Given the description of an element on the screen output the (x, y) to click on. 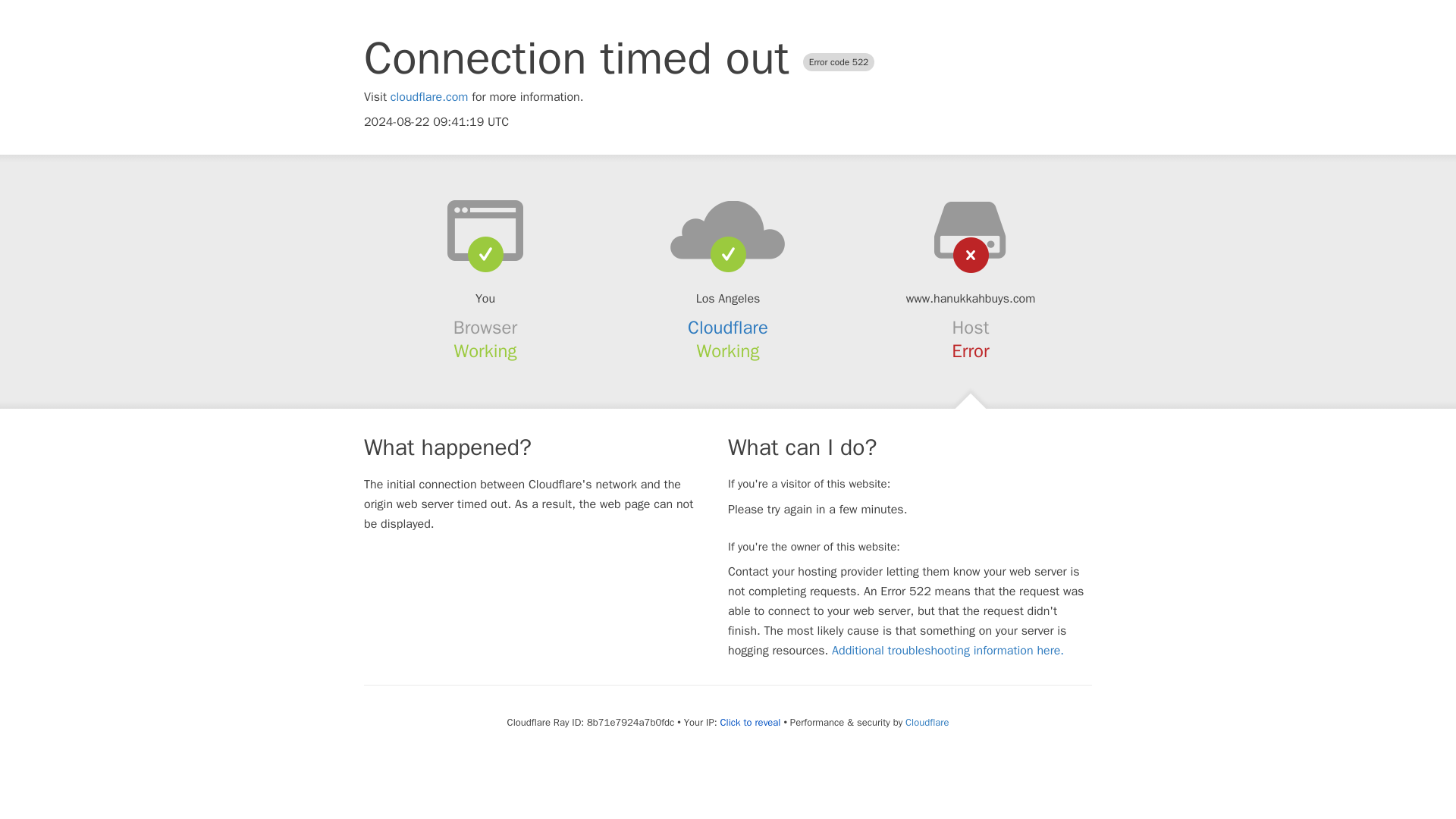
Additional troubleshooting information here. (947, 650)
Cloudflare (927, 721)
Cloudflare (727, 327)
cloudflare.com (429, 96)
Click to reveal (750, 722)
